Given the description of an element on the screen output the (x, y) to click on. 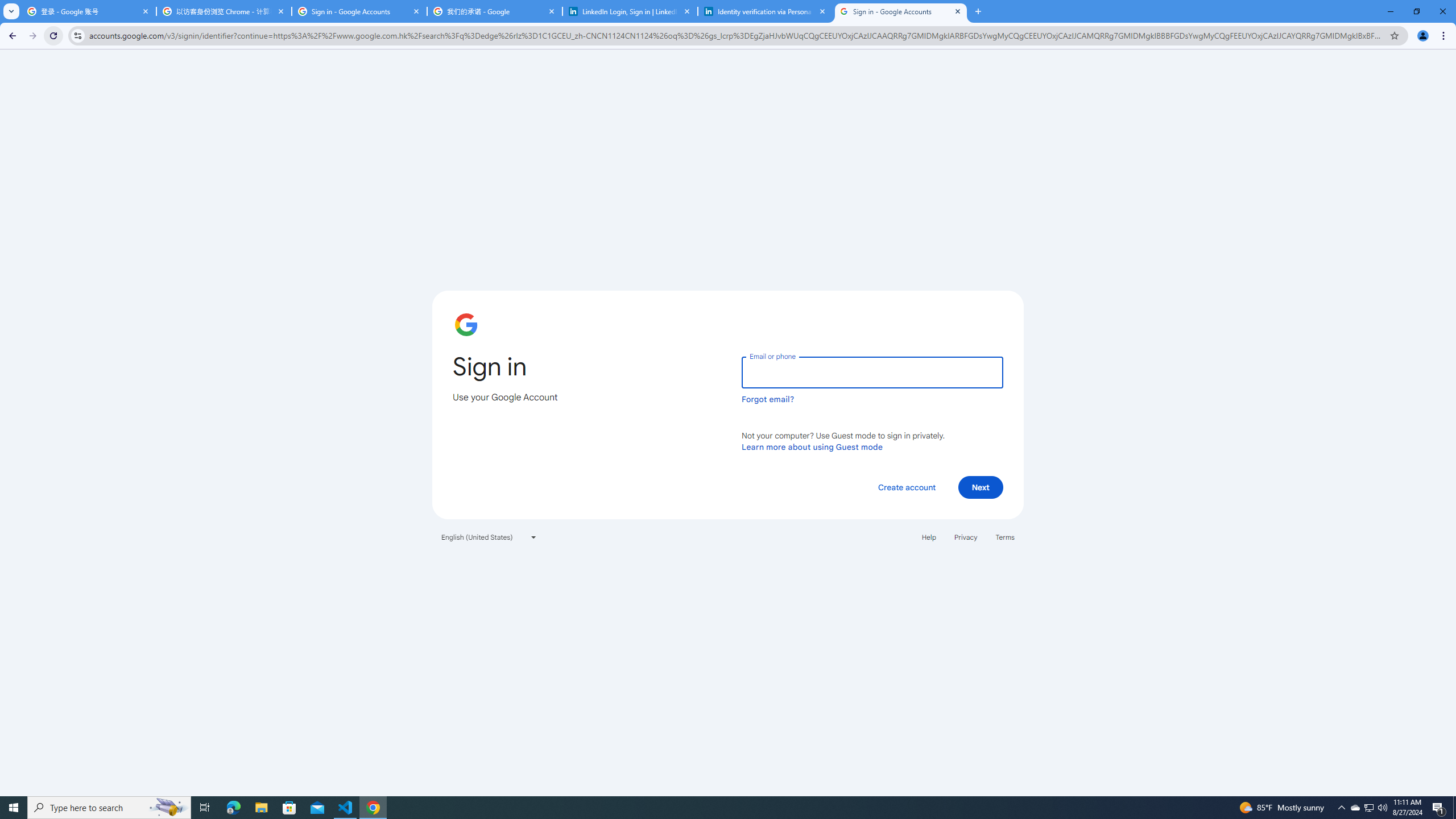
Sign in - Google Accounts (359, 11)
Create account (905, 486)
English (United States) (489, 536)
Identity verification via Persona | LinkedIn Help (765, 11)
Sign in - Google Accounts (901, 11)
